Given the description of an element on the screen output the (x, y) to click on. 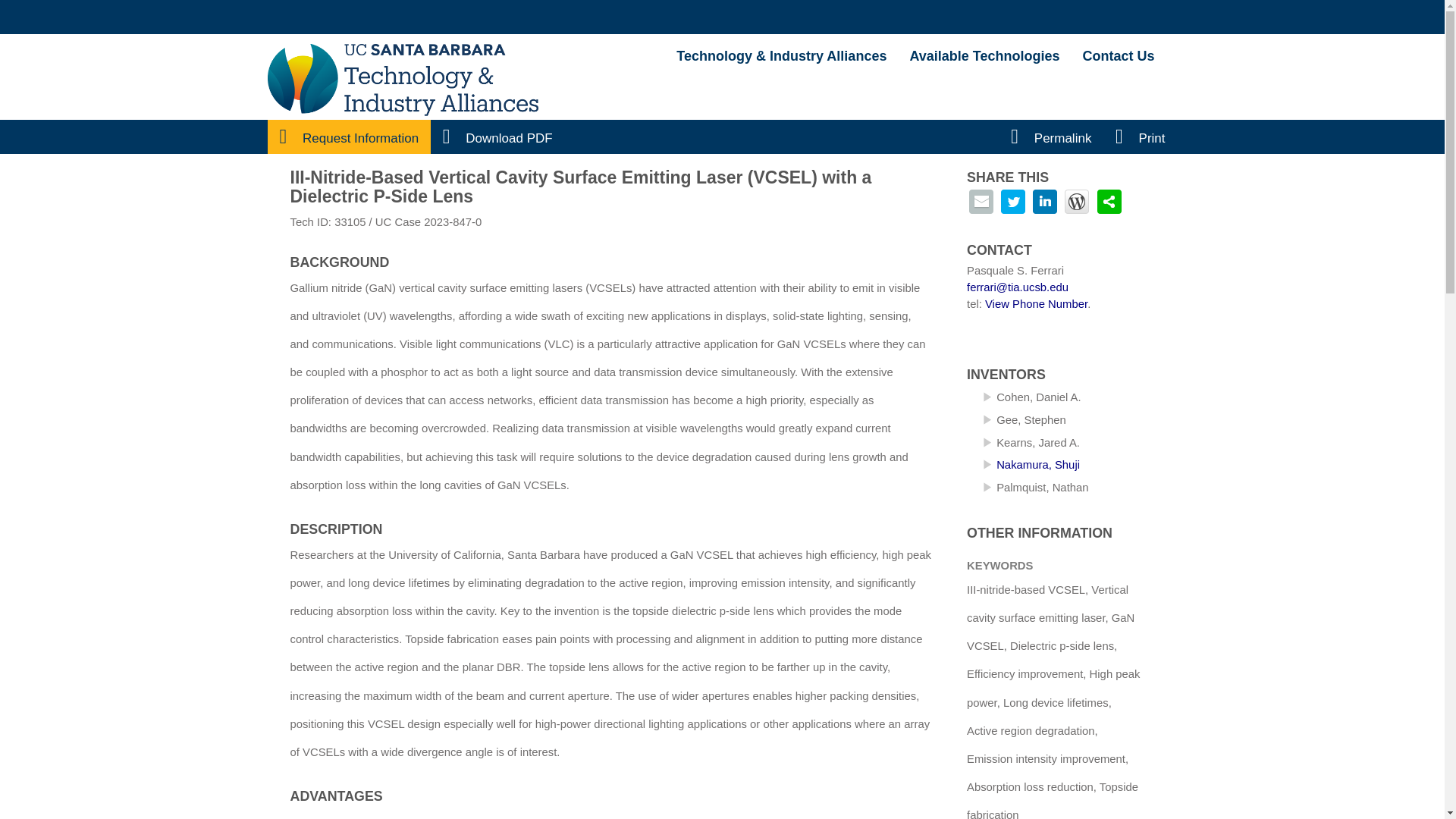
Nakamura, Shuji (1037, 464)
Permalink (1050, 138)
Request Information (349, 138)
View Phone Number (1036, 304)
Contact Us (1118, 55)
Available Technologies (984, 55)
Download PDF (497, 138)
Contact Us (1118, 55)
Print (1140, 138)
Available Technologies (984, 55)
UC Santa Barbara Office of Technology and Industry Alliances (781, 55)
